Given the description of an element on the screen output the (x, y) to click on. 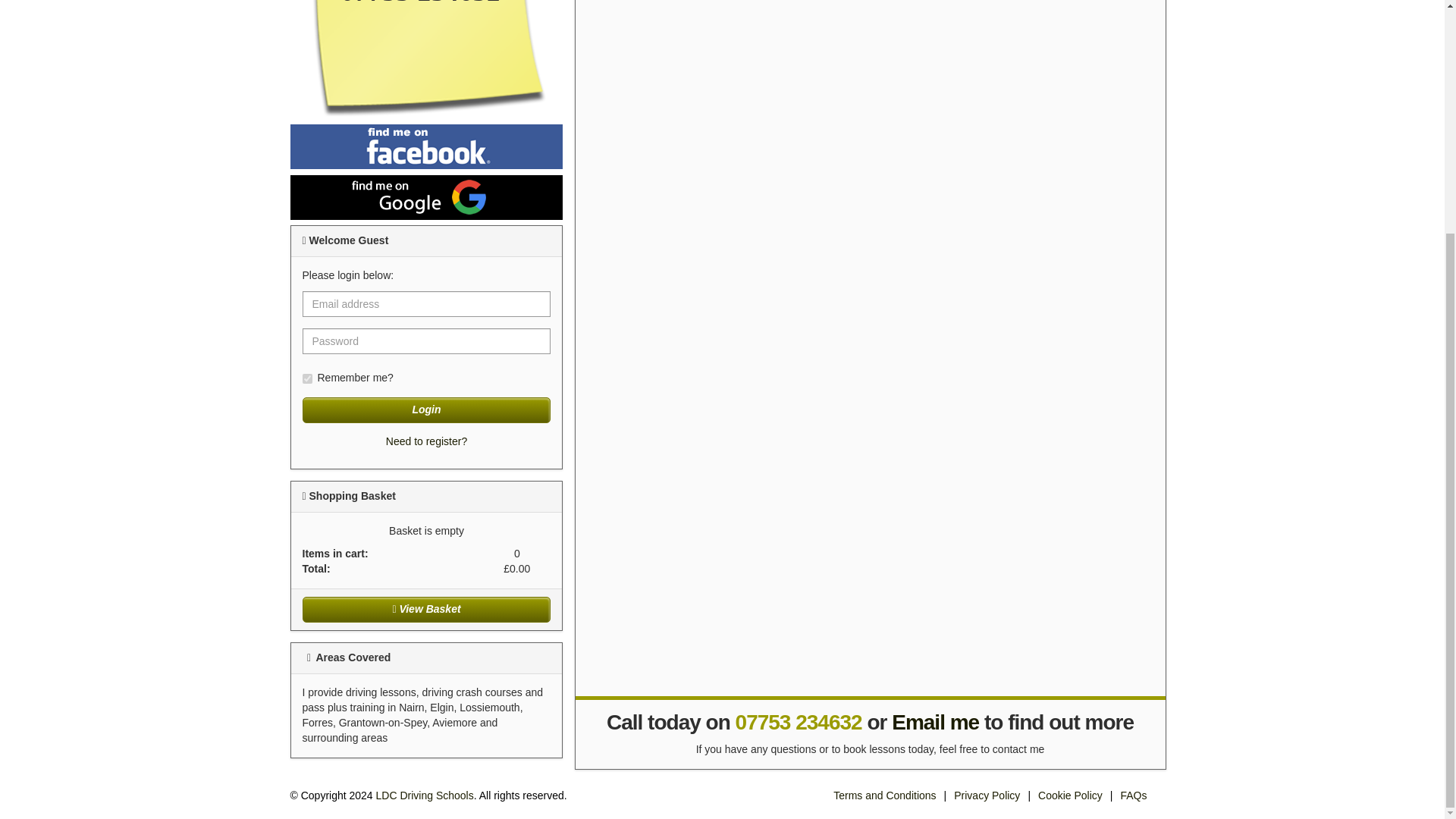
1 (306, 378)
Login (425, 410)
